Given the description of an element on the screen output the (x, y) to click on. 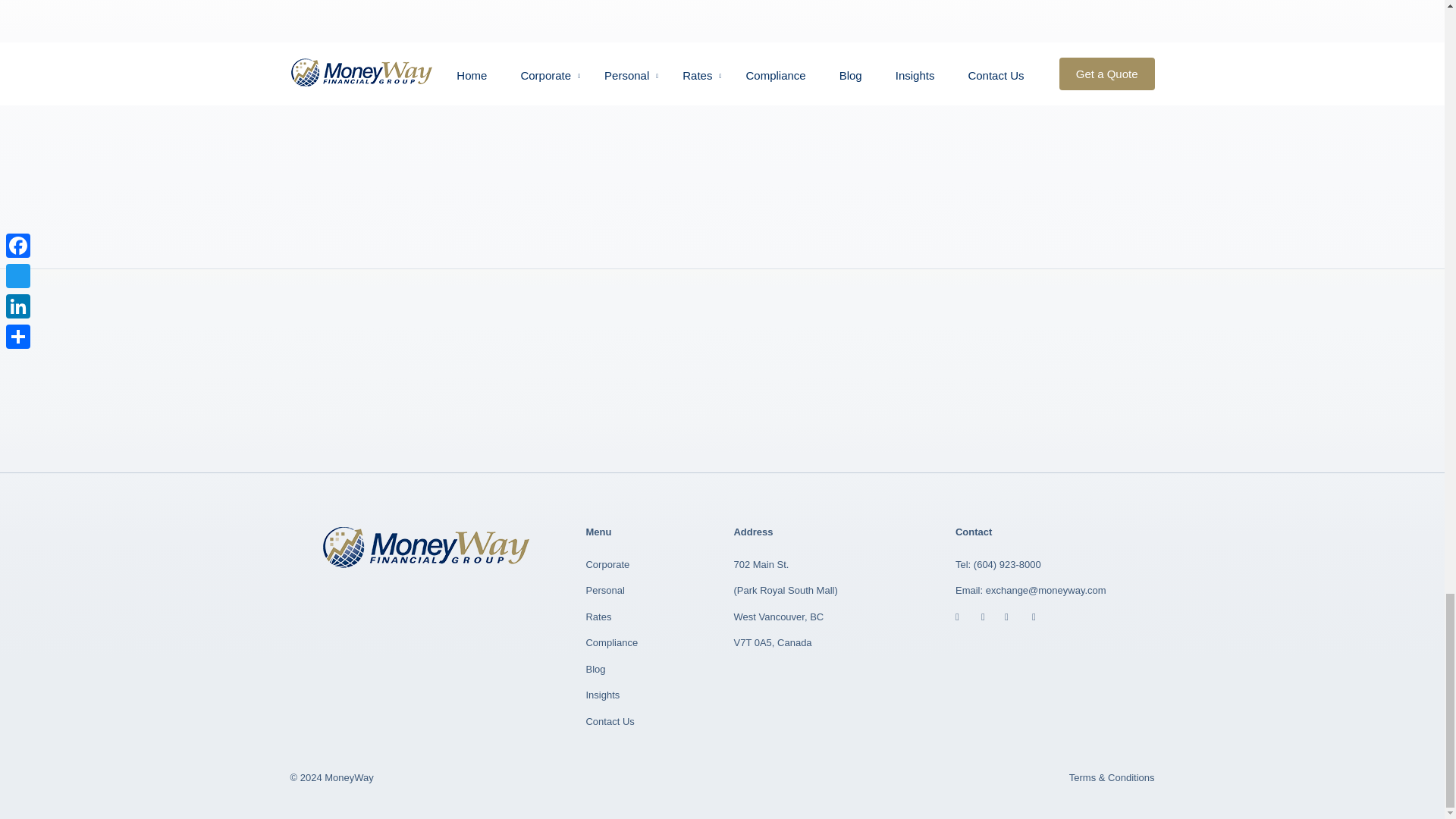
Sign Up (984, 160)
